Given the description of an element on the screen output the (x, y) to click on. 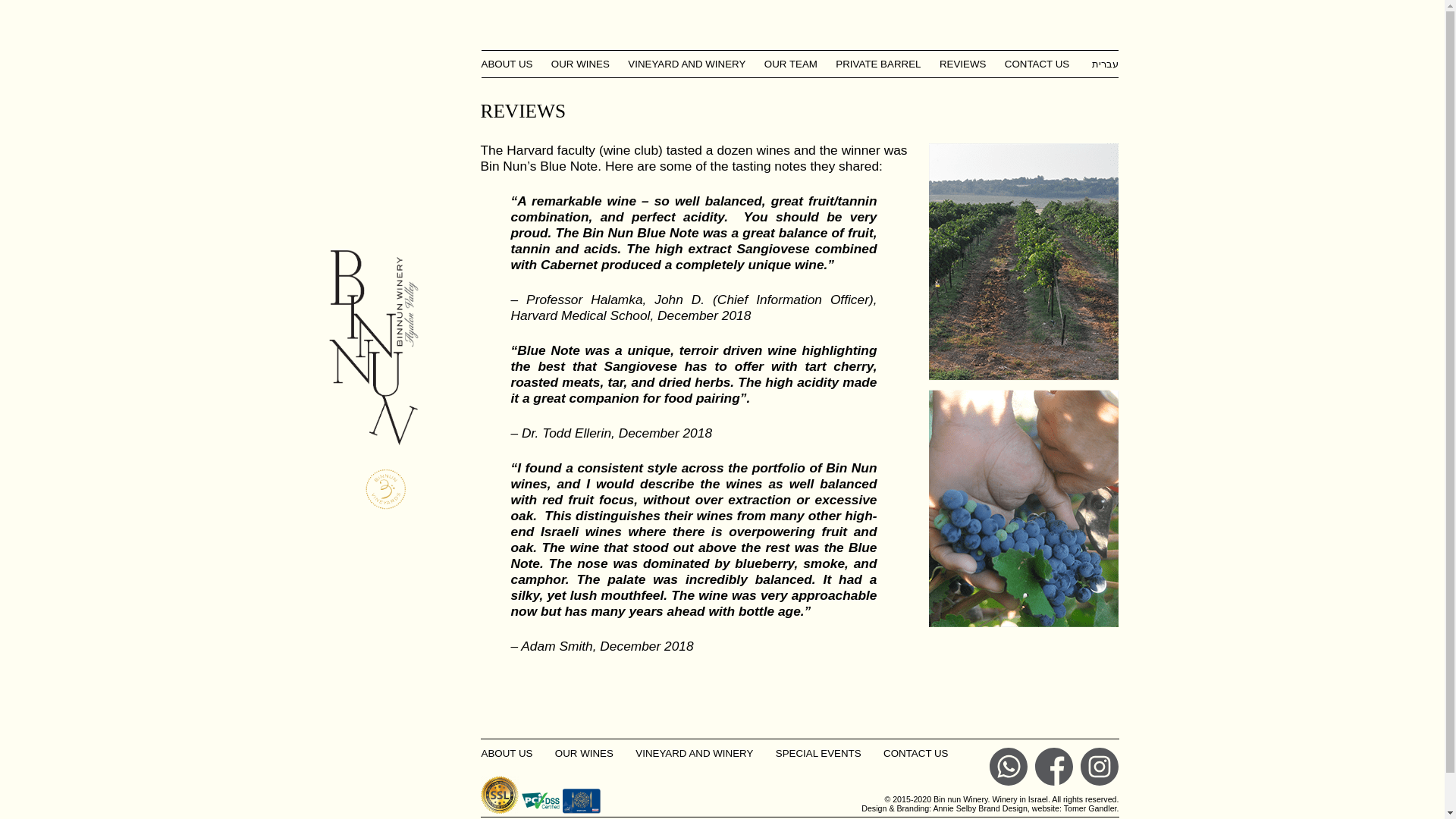
CONTACT US (1037, 63)
Annie Selby Brand Design (979, 808)
CONTACT US (915, 753)
SPECIAL EVENTS (818, 753)
VINEYARD AND WINERY (693, 753)
PRIVATE BARREL (878, 63)
ABOUT US (506, 753)
OUR TEAM (791, 63)
REVIEWS (961, 63)
OUR WINES (580, 63)
ABOUT US (510, 63)
OUR WINES (583, 753)
VINEYARD AND WINERY (686, 63)
